Given the description of an element on the screen output the (x, y) to click on. 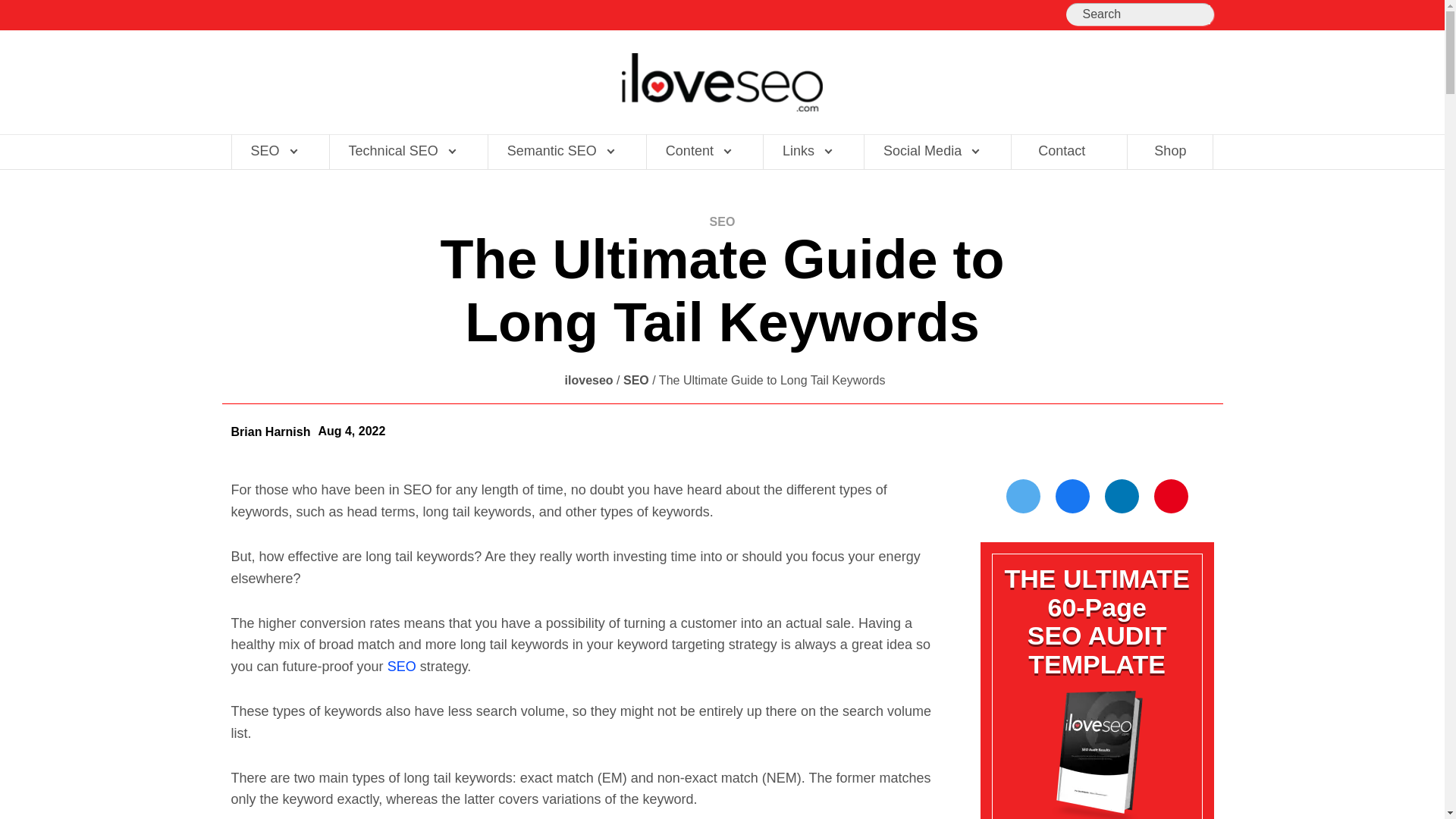
Facebook (1072, 496)
Twitter (1023, 496)
Brian Harnish (270, 431)
Pinterest (1171, 496)
The Friendliest Source of Industry News and Information (721, 82)
Linkedin (1121, 496)
SEO (272, 151)
SEO (401, 666)
Technical SEO (400, 151)
